Given the description of an element on the screen output the (x, y) to click on. 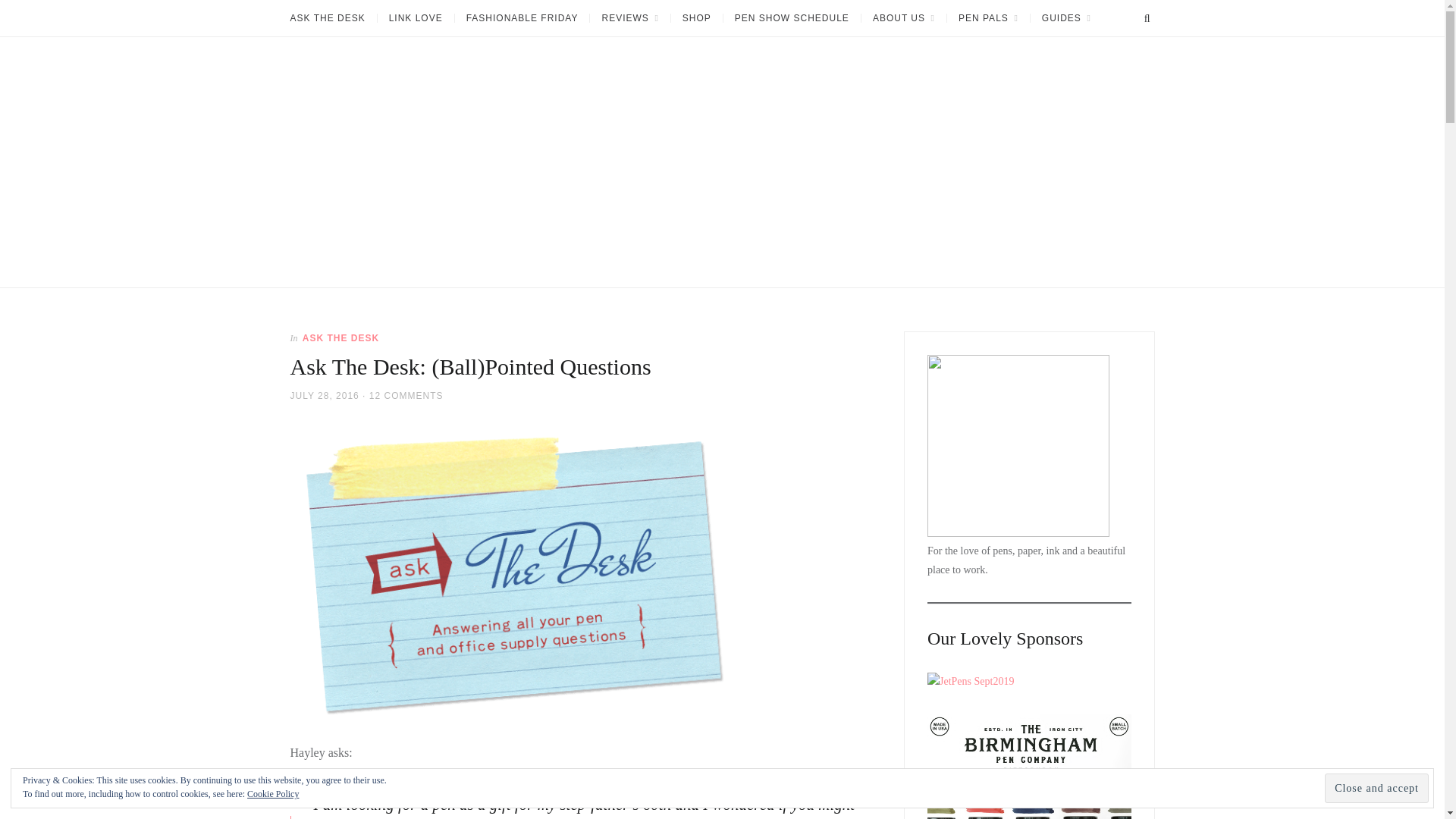
ASK THE DESK (340, 337)
Close and accept (1376, 788)
PEN SHOW SCHEDULE (791, 17)
FASHIONABLE FRIDAY (521, 17)
ASK THE DESK (332, 17)
GUIDES (1065, 17)
LINK LOVE (415, 17)
JULY 28, 2016 (323, 394)
SHOP (695, 17)
PEN PALS (987, 17)
The Well-Appointed Desk (346, 292)
REVIEWS (629, 17)
12 COMMENTS (406, 394)
ABOUT US (903, 17)
